Given the description of an element on the screen output the (x, y) to click on. 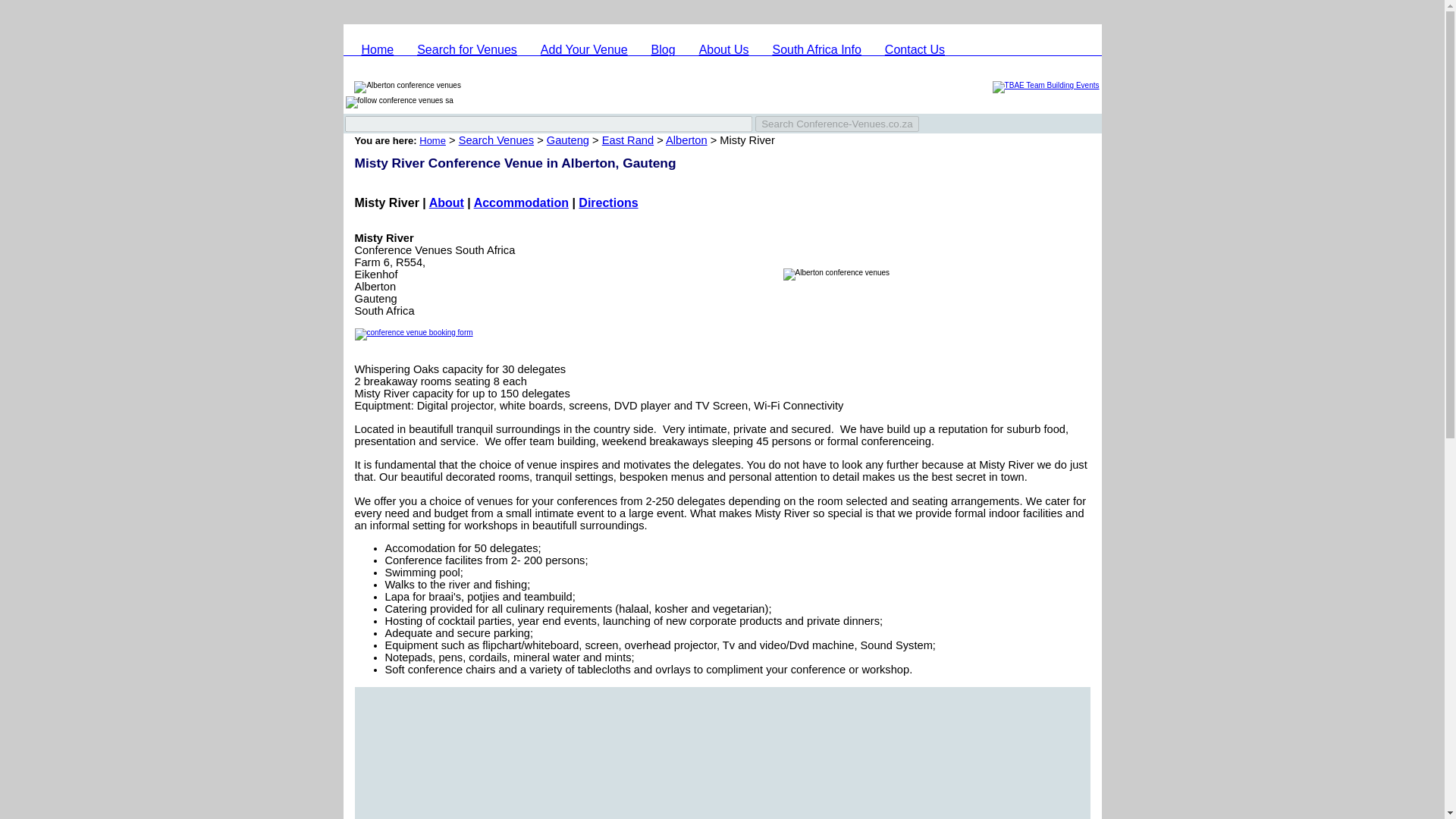
Search Conference-Venues.co.za (836, 123)
About (446, 202)
Conference Venues (377, 48)
Home (432, 140)
Search Conference Venues (466, 48)
Information on South Africa (815, 48)
Conference Venues SA Blog (662, 48)
Home (377, 48)
Search for Venues (466, 48)
Directions (607, 202)
